Given the description of an element on the screen output the (x, y) to click on. 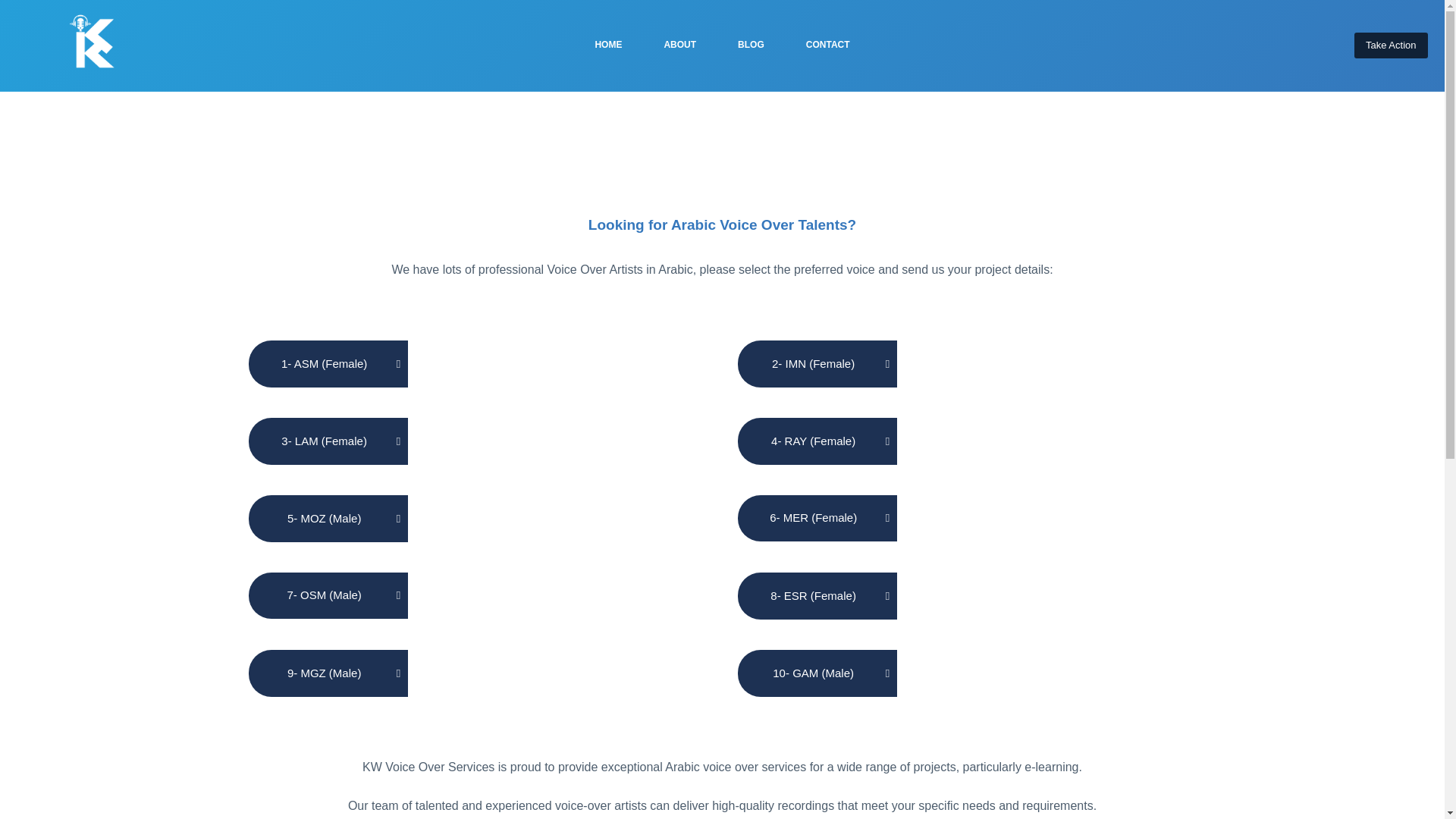
Skip to content (15, 7)
ABOUT (680, 45)
CONTACT (827, 45)
Take Action (1391, 45)
HOME (608, 45)
BLOG (751, 45)
